Given the description of an element on the screen output the (x, y) to click on. 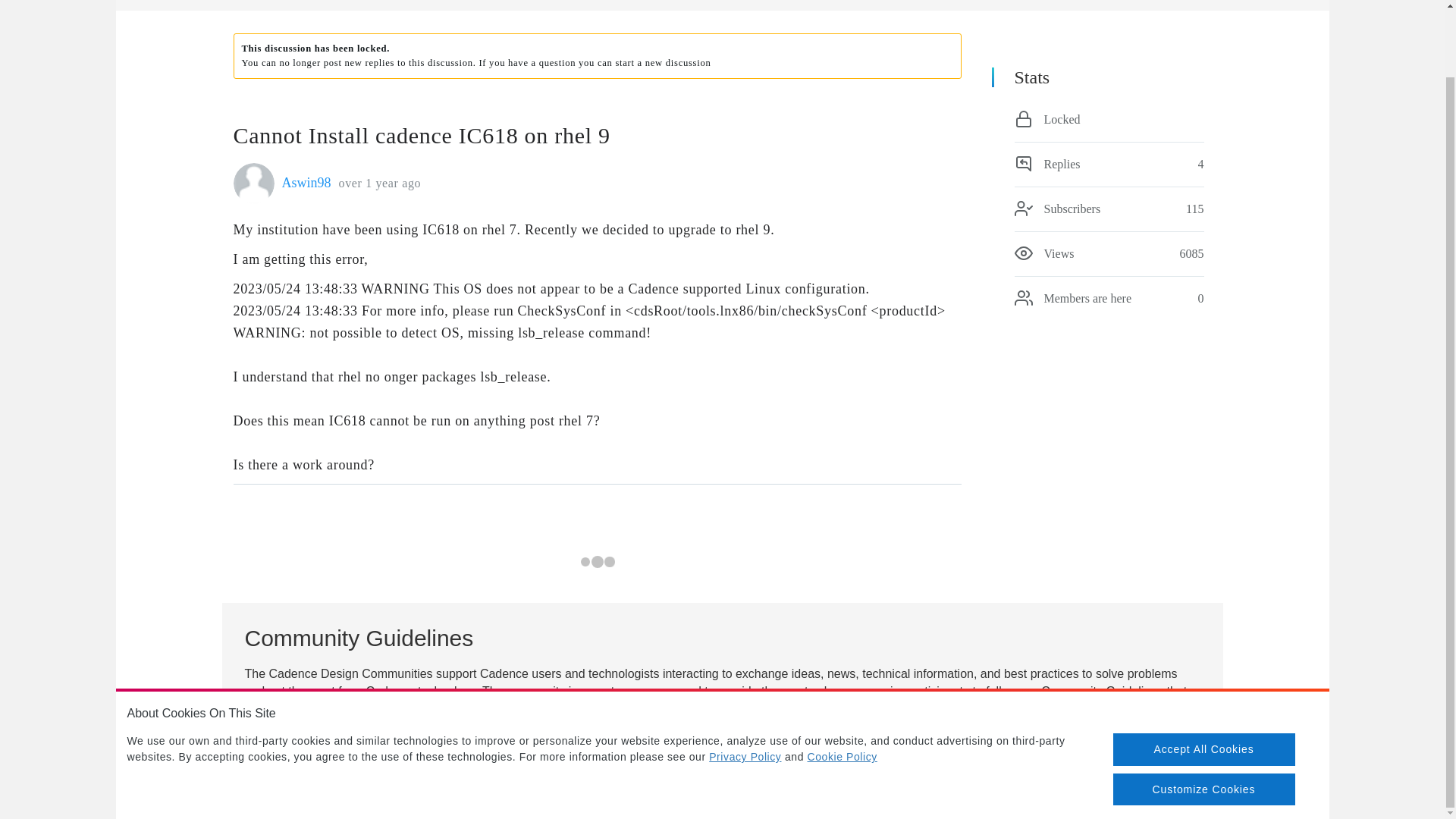
Privacy (769, 799)
Cookie Policy (842, 799)
CUSTOM IC DESIGN (351, 0)
COMMUNITY (262, 0)
Privacy Policy (744, 683)
Cookie Policy (842, 683)
Community Guidelines (716, 716)
US Trademarks (934, 799)
Aswin98 (306, 182)
Terms of Use (697, 799)
Accept All Cookies (1204, 675)
Do Not Sell or Share My Personal Information (1102, 799)
Customize Cookies (1204, 716)
